Given the description of an element on the screen output the (x, y) to click on. 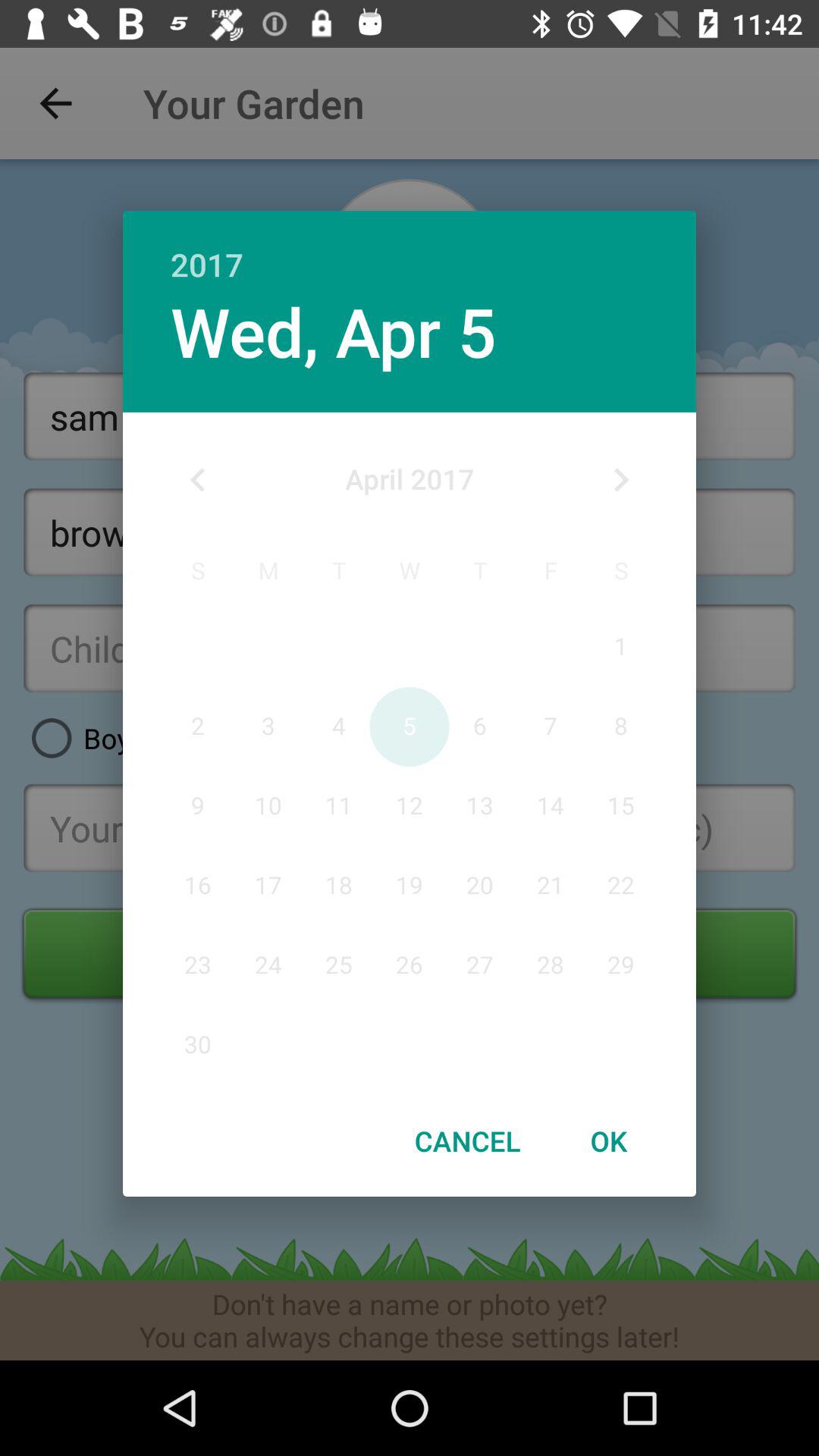
jump to cancel item (467, 1140)
